Given the description of an element on the screen output the (x, y) to click on. 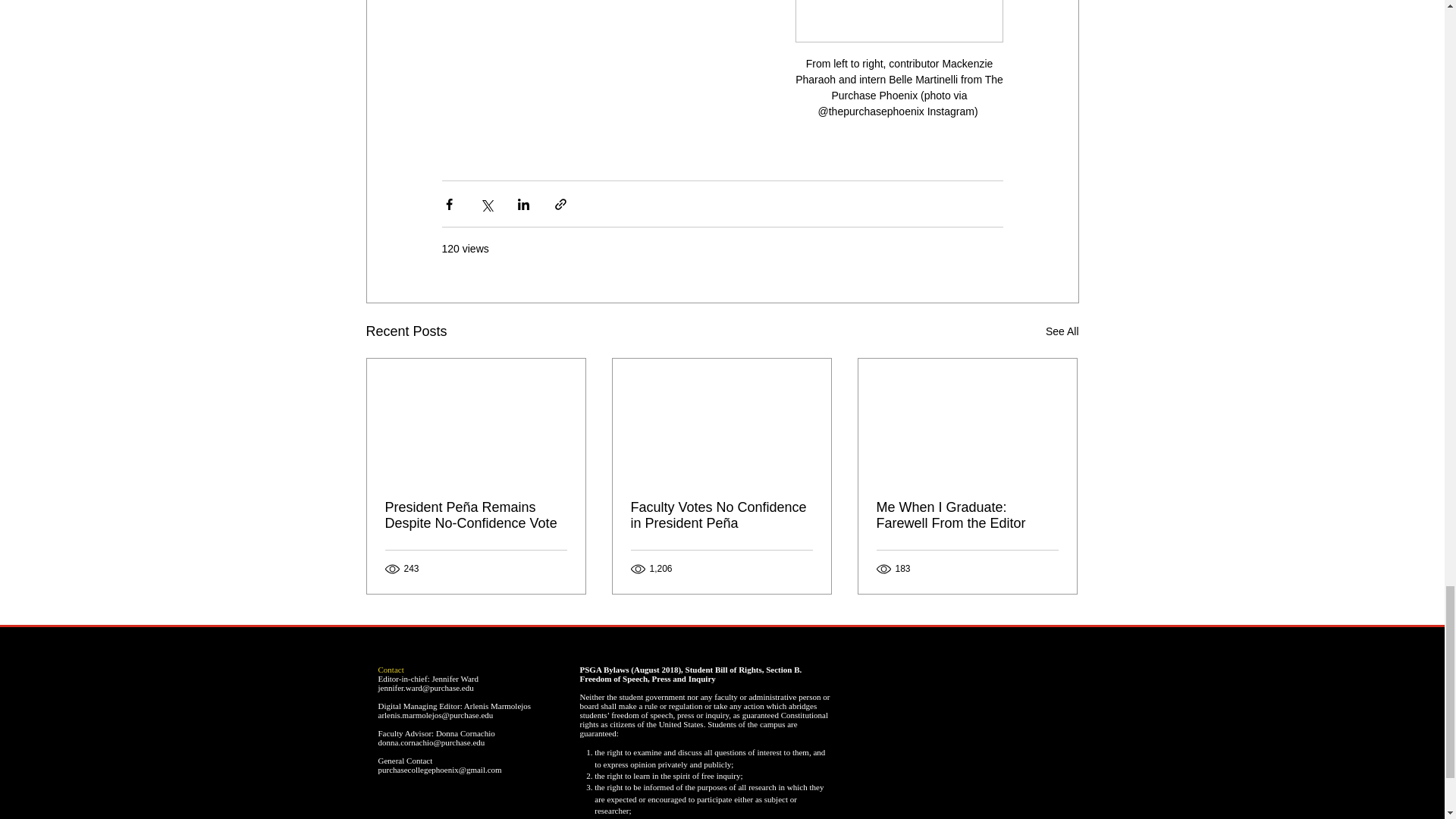
See All (1061, 332)
Me When I Graduate: Farewell From the Editor (967, 515)
